Given the description of an element on the screen output the (x, y) to click on. 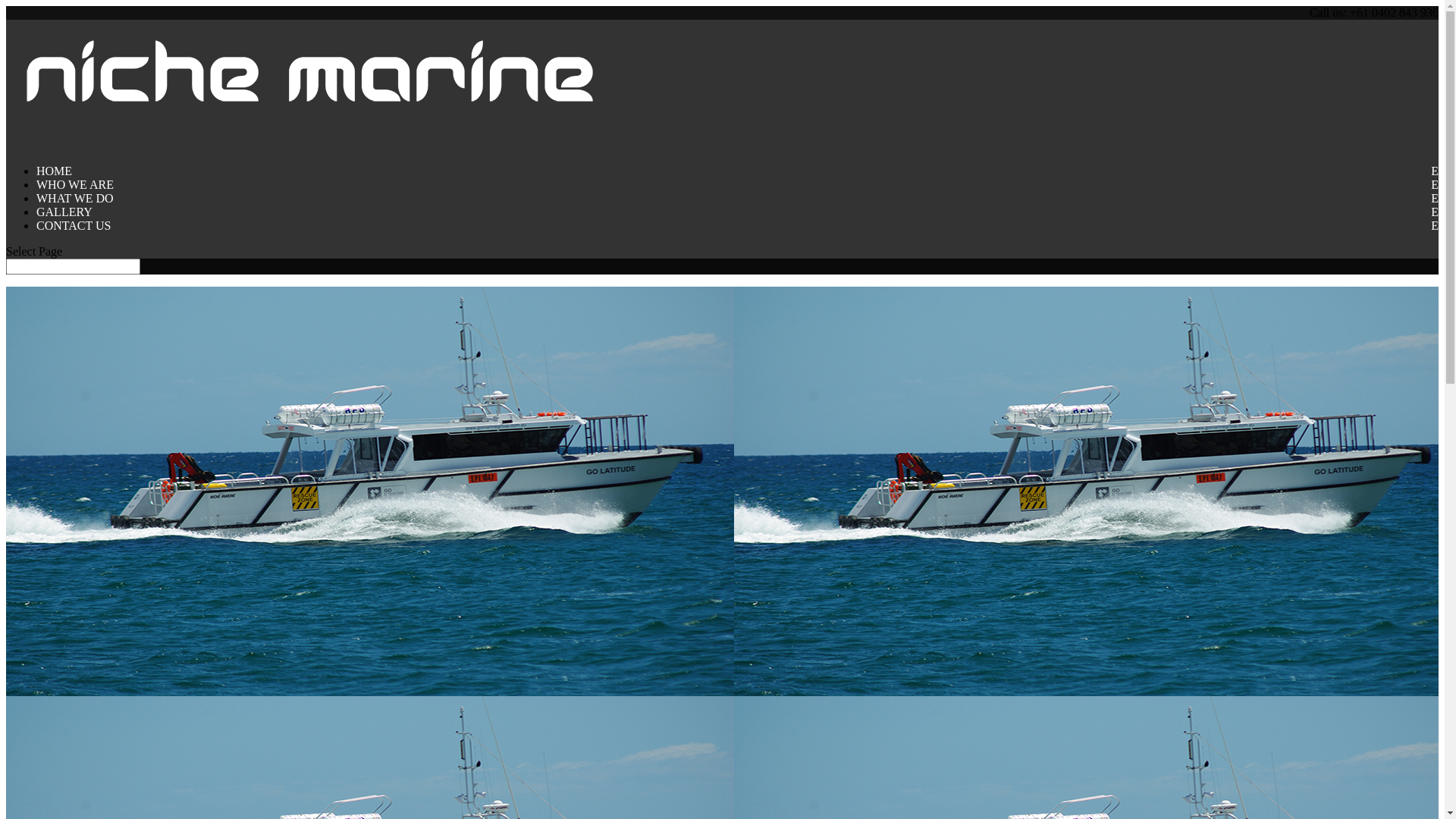
Search for: Element type: hover (73, 266)
CONTACT US Element type: text (73, 236)
WHAT WE DO Element type: text (74, 209)
GALLERY Element type: text (64, 223)
HOME Element type: text (54, 182)
WHO WE ARE Element type: text (74, 195)
